Given the description of an element on the screen output the (x, y) to click on. 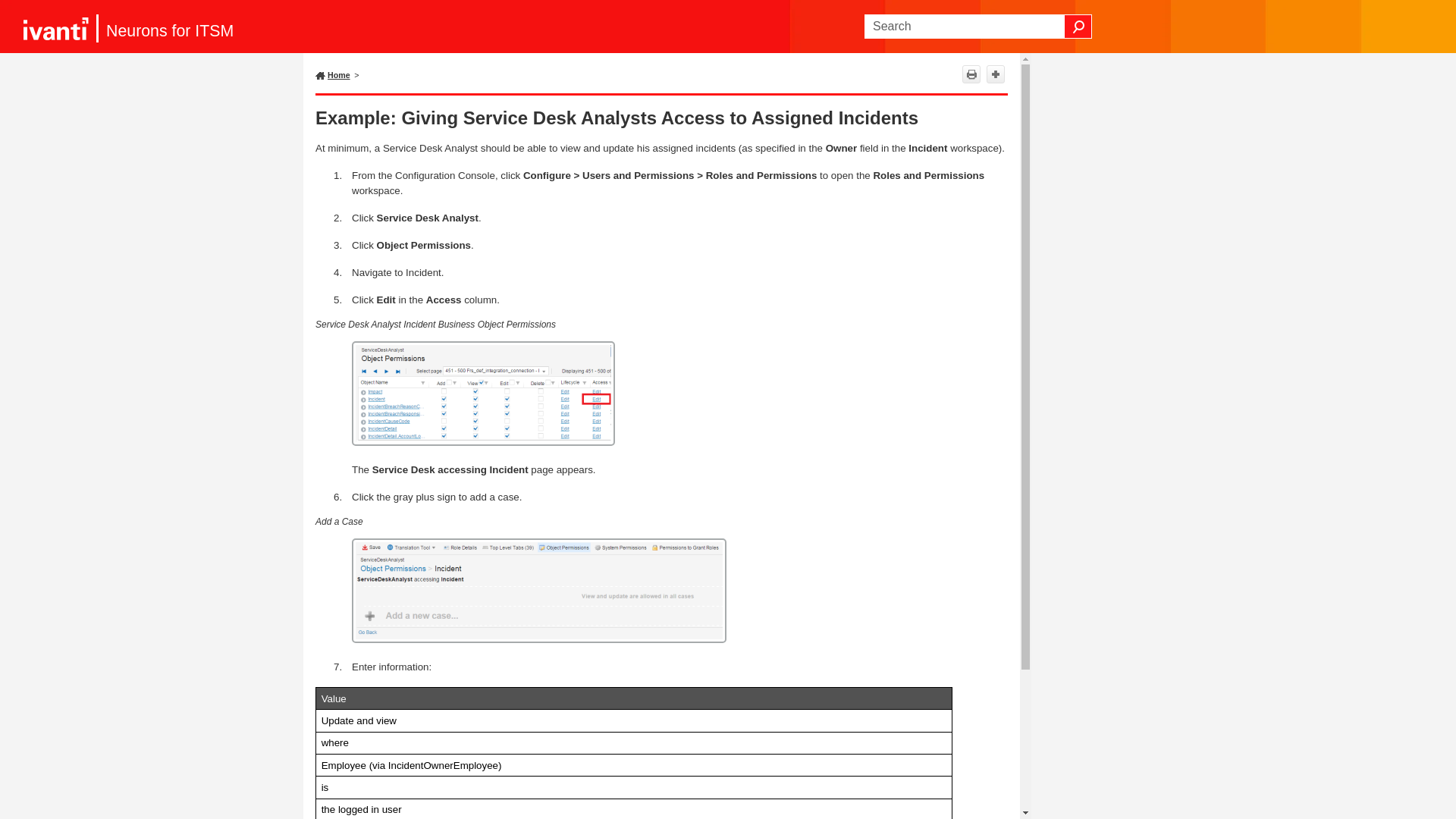
Search (1078, 26)
Expand all (995, 74)
Home (338, 74)
Print (970, 74)
